Given the description of an element on the screen output the (x, y) to click on. 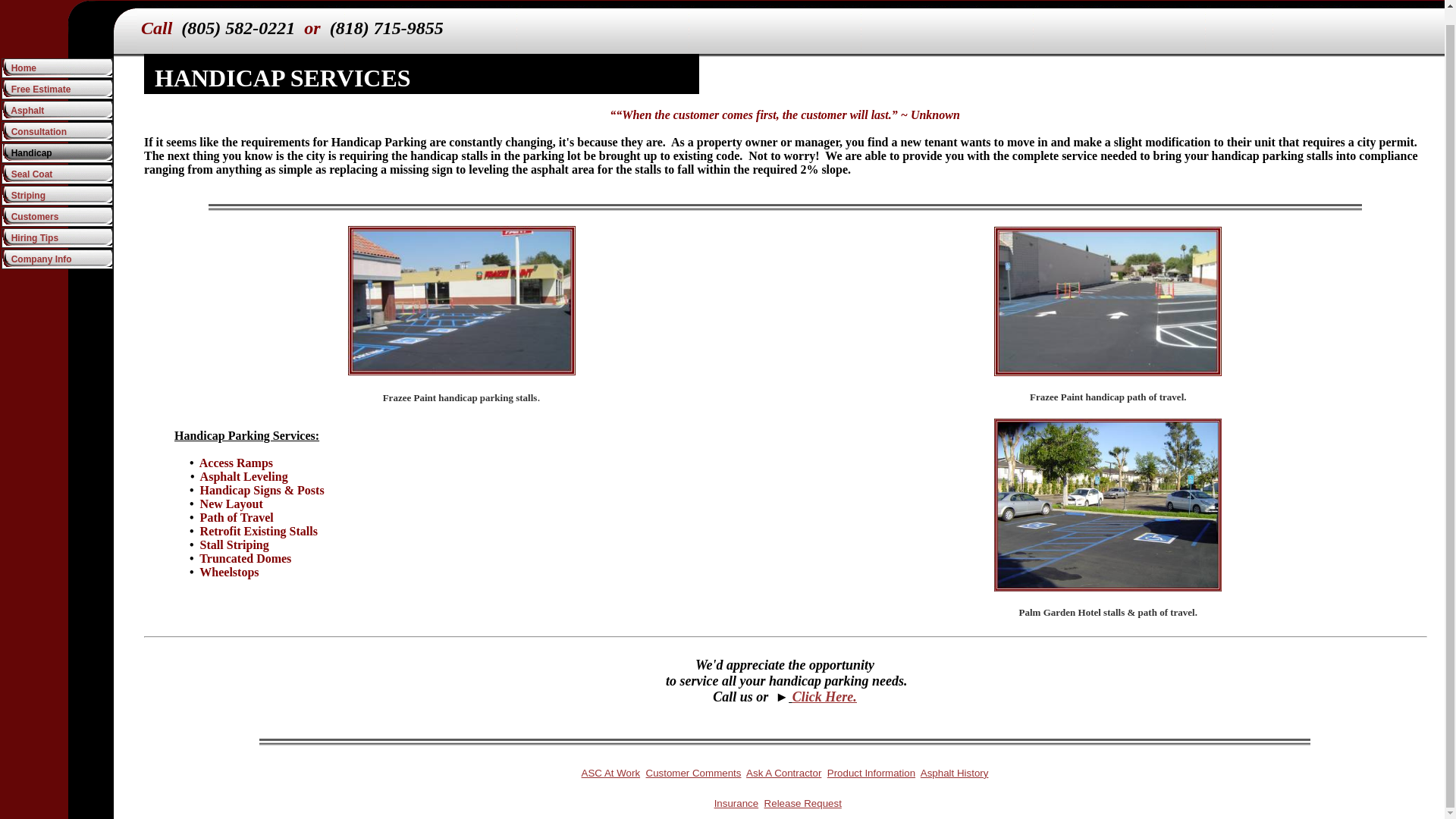
. Hiring Tips (57, 238)
. Striping (57, 195)
Insurance (736, 803)
. Customers (57, 216)
Product Information (871, 772)
ASC At Work (610, 772)
. Handicap (57, 152)
Ask A Contractor (783, 772)
. Free Estimate (57, 89)
. Consultation (57, 131)
. Seal Coat (57, 174)
Customer Comments (693, 772)
Release Request (802, 803)
. Home (57, 67)
. Company Info (57, 259)
